Given the description of an element on the screen output the (x, y) to click on. 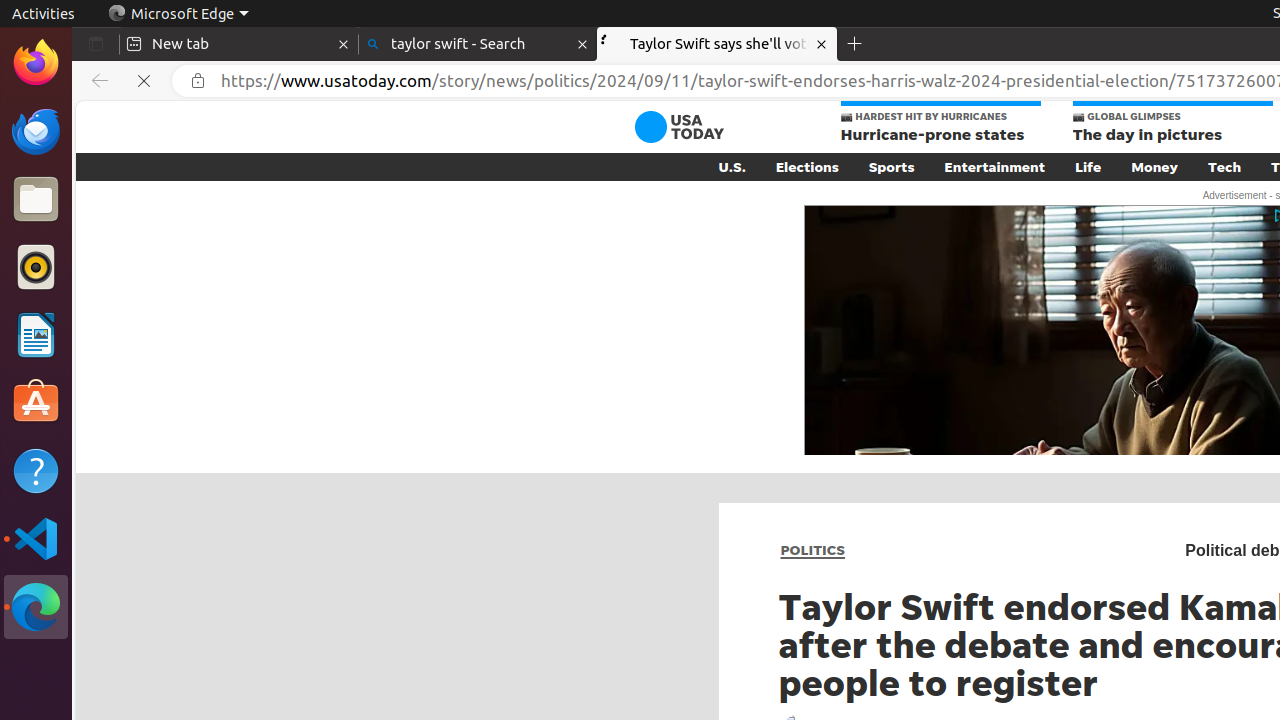
Microsoft Edge Element type: push-button (36, 607)
POLITICS Element type: link (813, 550)
📷 HARDEST HIT BY HURRICANES Hurricane-prone states Element type: link (940, 123)
USA TODAY Element type: link (679, 127)
Microsoft Edge Element type: menu (178, 13)
